Given the description of an element on the screen output the (x, y) to click on. 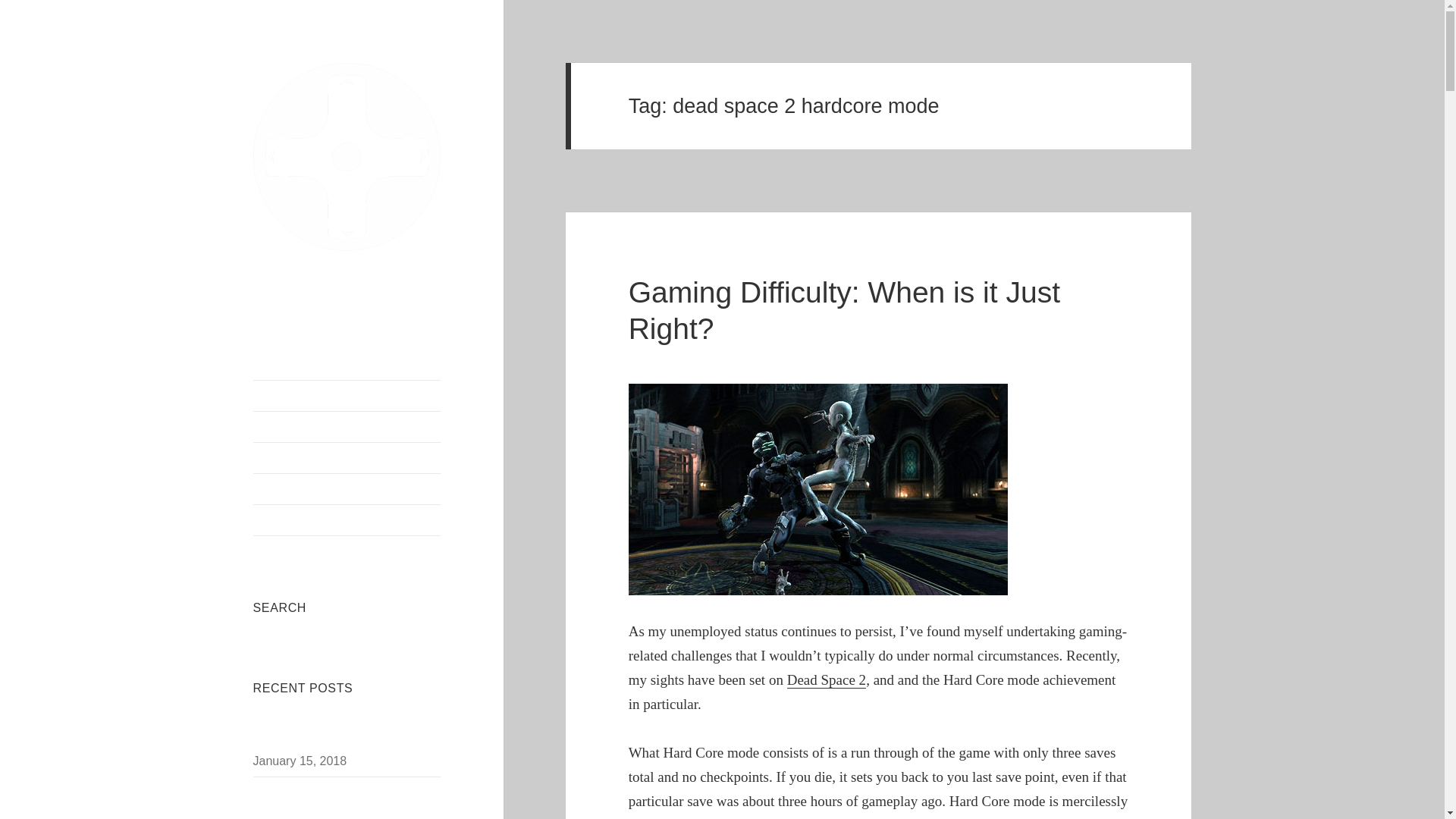
dead space 2 hardcore mode (817, 489)
Features (347, 520)
About (347, 426)
The GamerSushi Show (347, 458)
Reviews (347, 489)
Home (347, 395)
The GamerSushi Show, Ep 95: Super Sushian Odyssey (336, 733)
GamerSushi (346, 262)
